Given the description of an element on the screen output the (x, y) to click on. 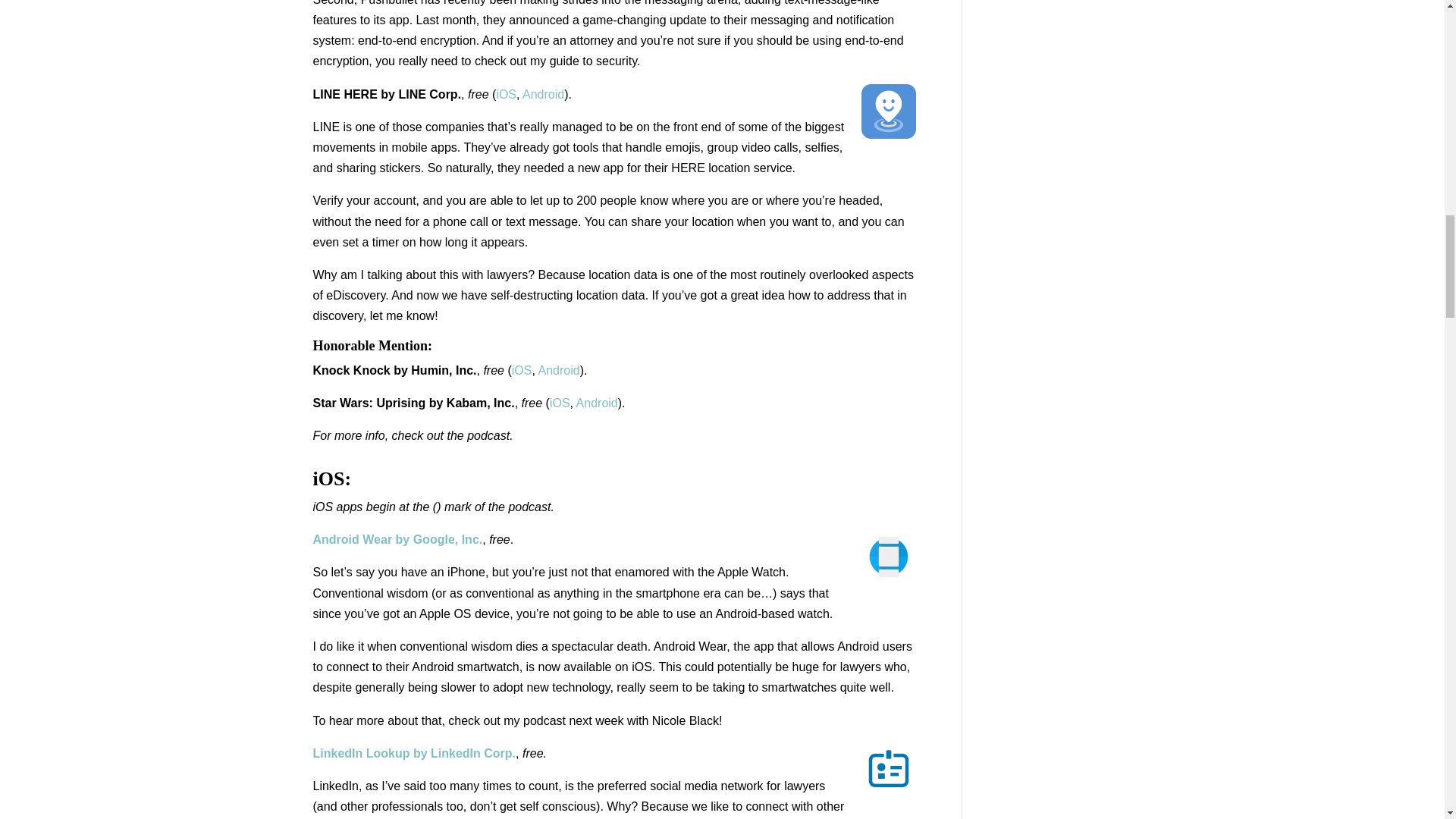
iOS (522, 369)
iOS (506, 93)
Android (543, 93)
Android (558, 369)
